Given the description of an element on the screen output the (x, y) to click on. 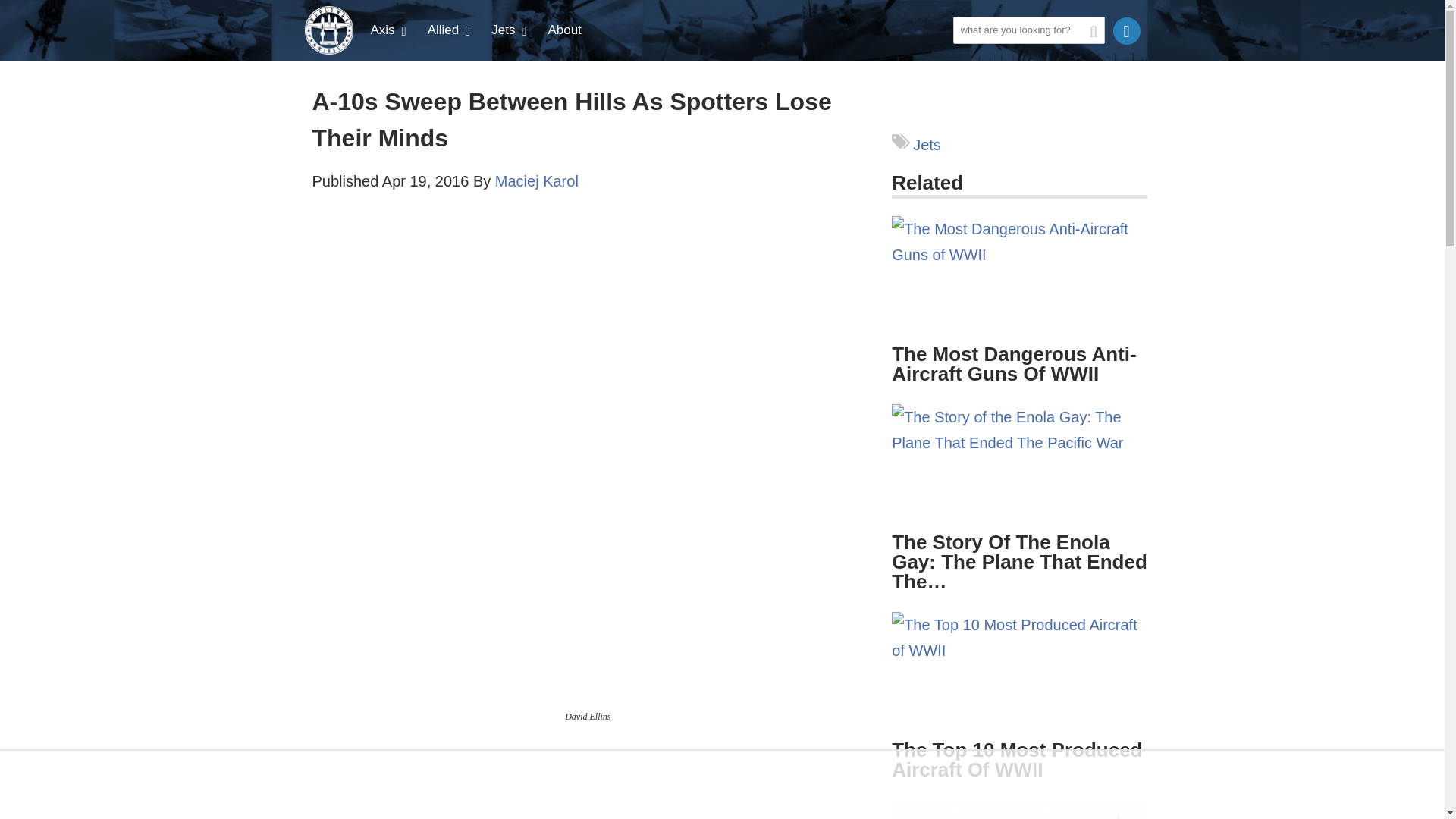
The Top 10 Most Produced Aircraft of WWII (1019, 672)
Allied (449, 29)
The Most Dangerous Anti-Aircraft Guns of WWII (1019, 277)
Search (967, 56)
Axis (389, 29)
Search for: (1027, 30)
The Most Dangerous Anti-Aircraft Guns of WWII (1019, 309)
Search (967, 56)
Jets (509, 29)
